Given the description of an element on the screen output the (x, y) to click on. 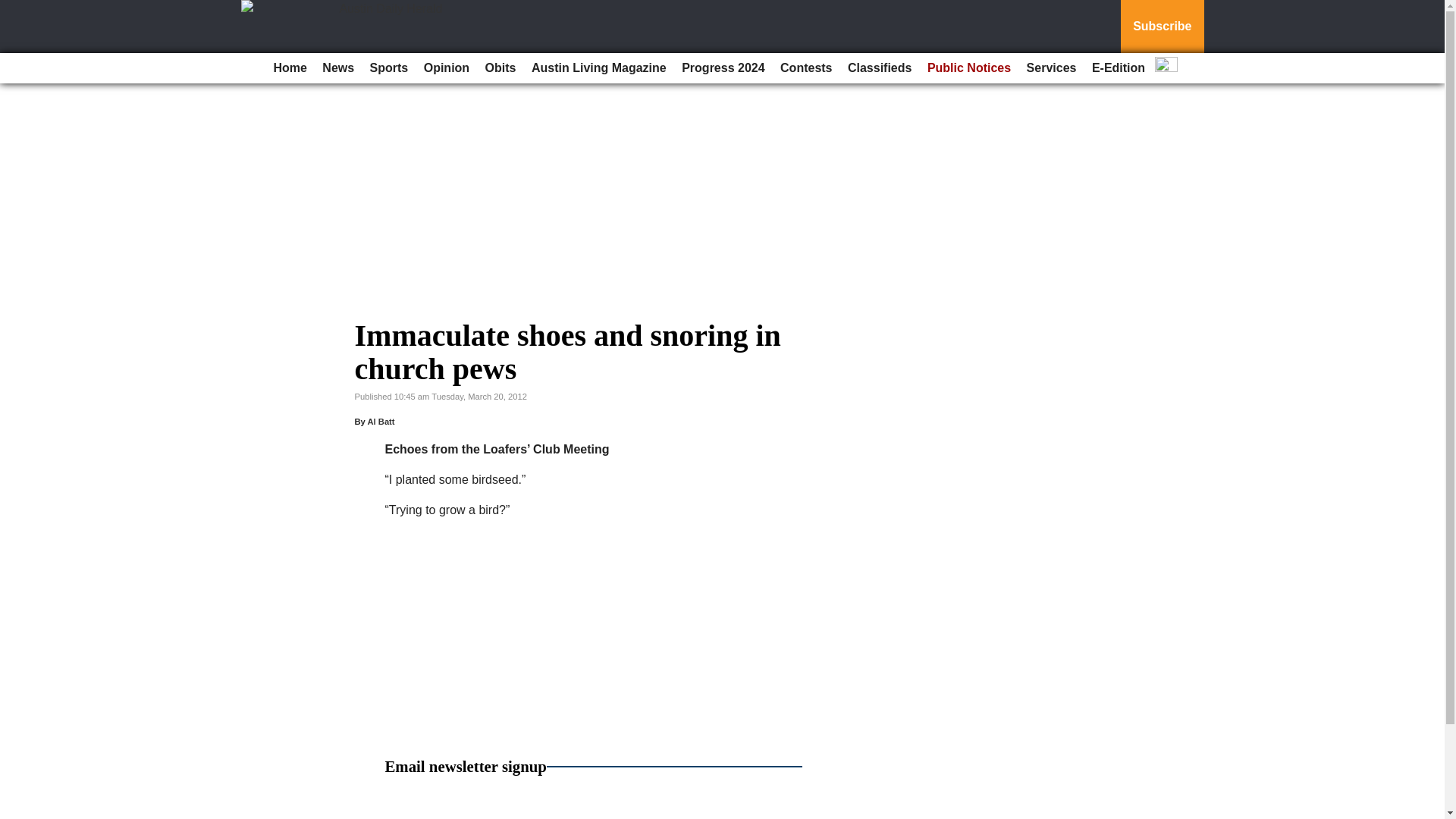
Services (1051, 68)
Obits (500, 68)
Public Notices (968, 68)
Classifieds (879, 68)
Opinion (446, 68)
News (337, 68)
Subscribe (1162, 26)
Austin Living Magazine (598, 68)
Home (289, 68)
Contests (806, 68)
